Given the description of an element on the screen output the (x, y) to click on. 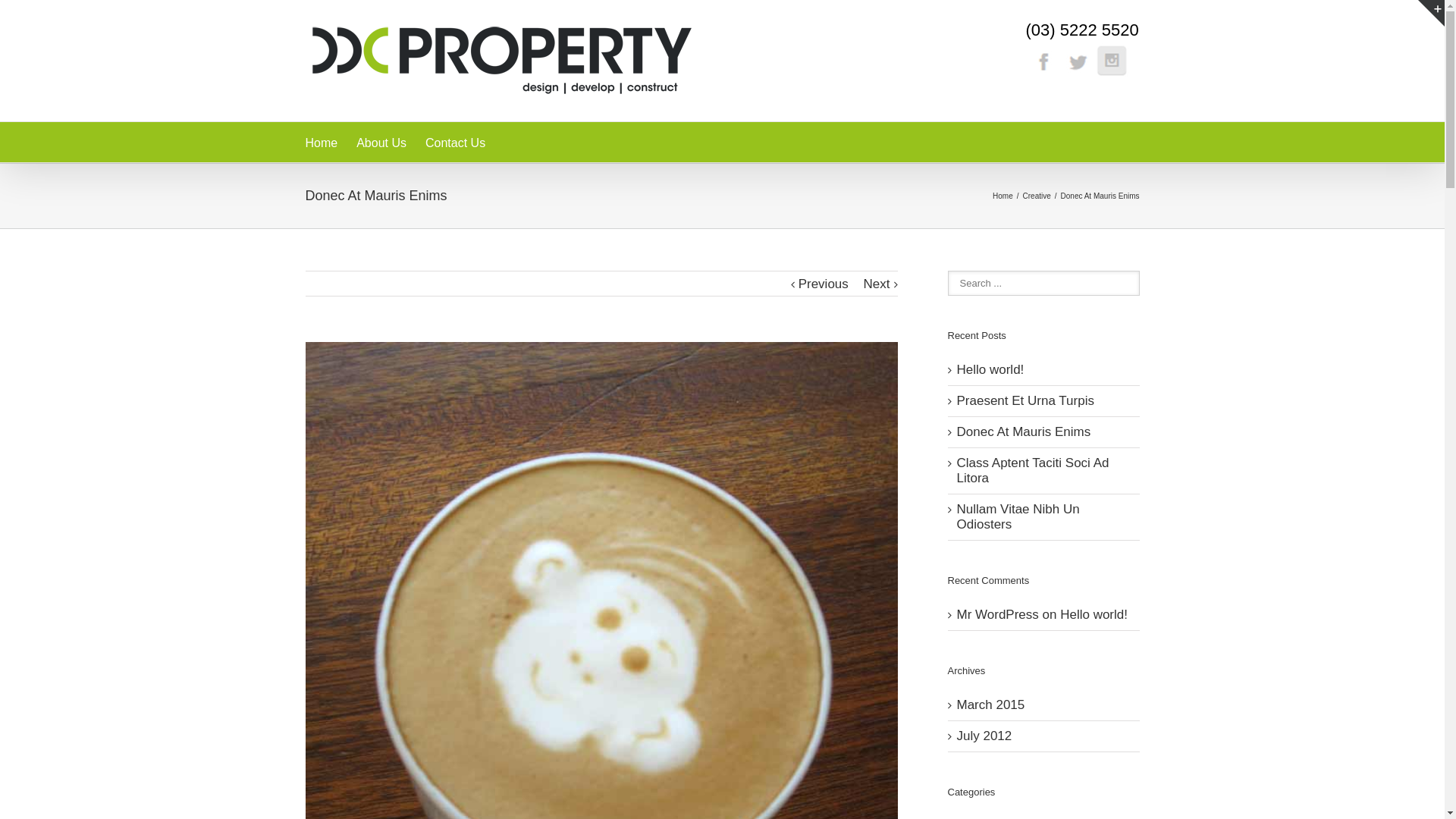
About Us Element type: text (381, 142)
July 2012 Element type: text (984, 735)
Contact Us Element type: text (455, 142)
Praesent Et Urna Turpis Element type: text (1025, 400)
Previous Element type: text (823, 284)
Next Element type: text (876, 284)
Hello world! Element type: text (990, 369)
Home Element type: text (1004, 195)
Nullam Vitae Nibh Un Odiosters Element type: text (1018, 516)
Home Element type: text (320, 142)
Mr WordPress Element type: text (997, 614)
March 2015 Element type: text (991, 704)
Donec At Mauris Enims Element type: text (1024, 431)
Class Aptent Taciti Soci Ad Litora Element type: text (1033, 470)
Hello world! Element type: text (1093, 614)
Creative Element type: text (1038, 195)
